Given the description of an element on the screen output the (x, y) to click on. 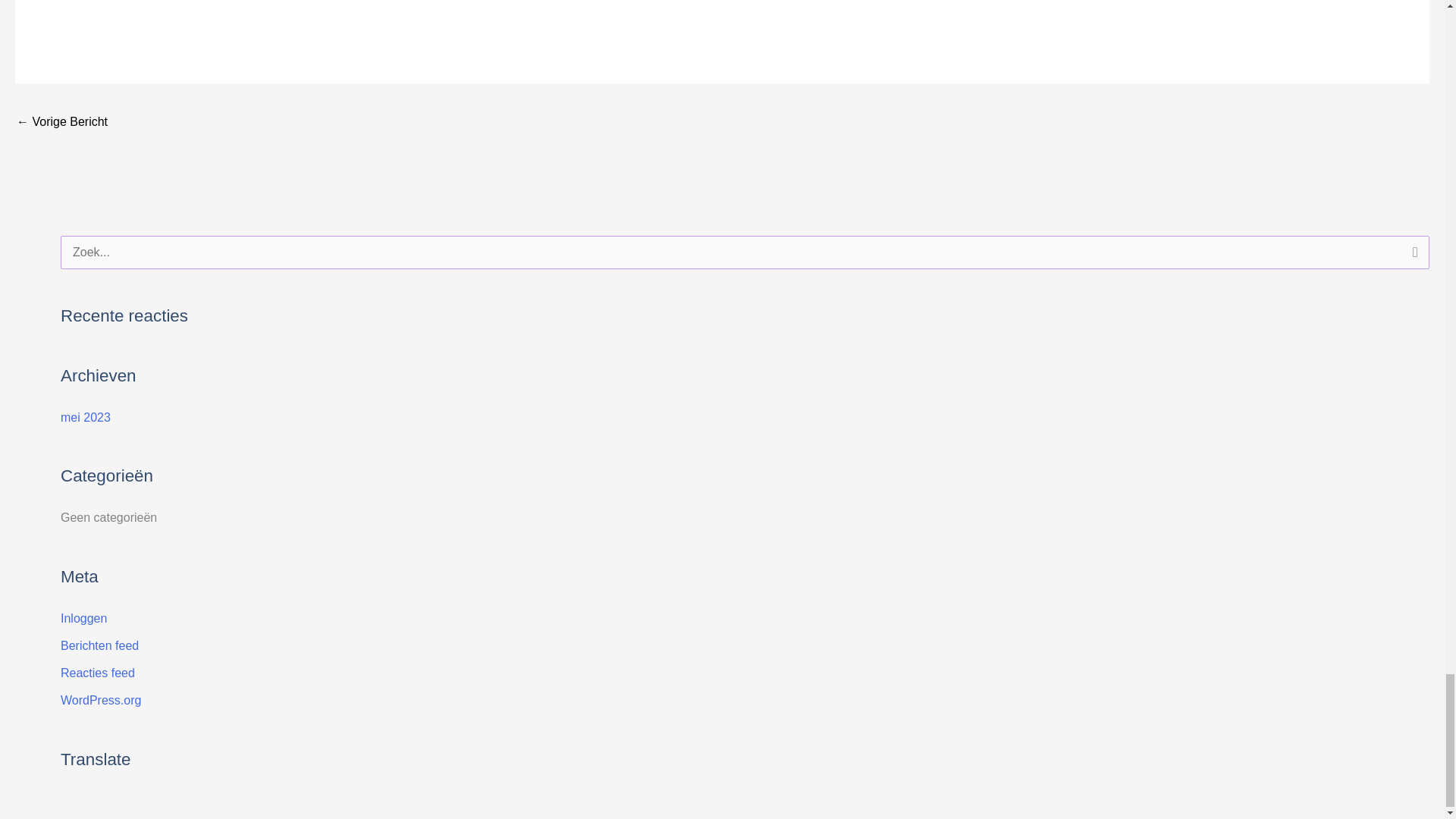
Reacties feed (98, 672)
How Do I Withdraw My Eye Of Horus Megaways Winnings Online (61, 122)
mei 2023 (85, 417)
WordPress.org (101, 699)
Inloggen (83, 617)
Berichten feed (99, 645)
